Given the description of an element on the screen output the (x, y) to click on. 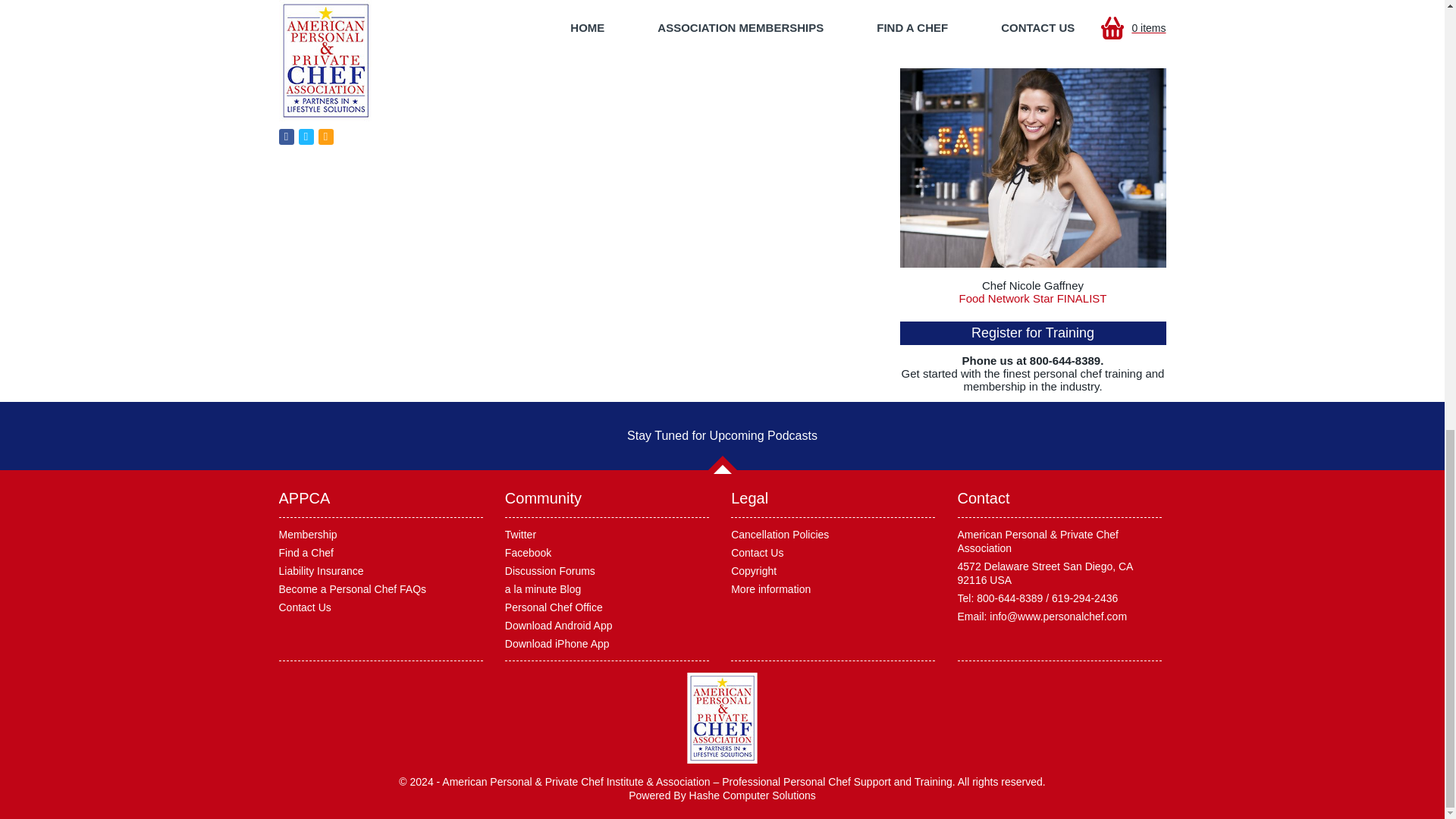
Register for Training (1032, 333)
Discussion Forums (550, 571)
Food Network Star FINALIST (1032, 297)
Find a Chef (306, 552)
Facebook (528, 552)
Membership (308, 534)
Contact Us (305, 607)
Liability Insurance (321, 571)
Become a Personal Chef FAQs (352, 589)
Twitter (520, 534)
From a Chef's Kitchen (1032, 6)
